Given the description of an element on the screen output the (x, y) to click on. 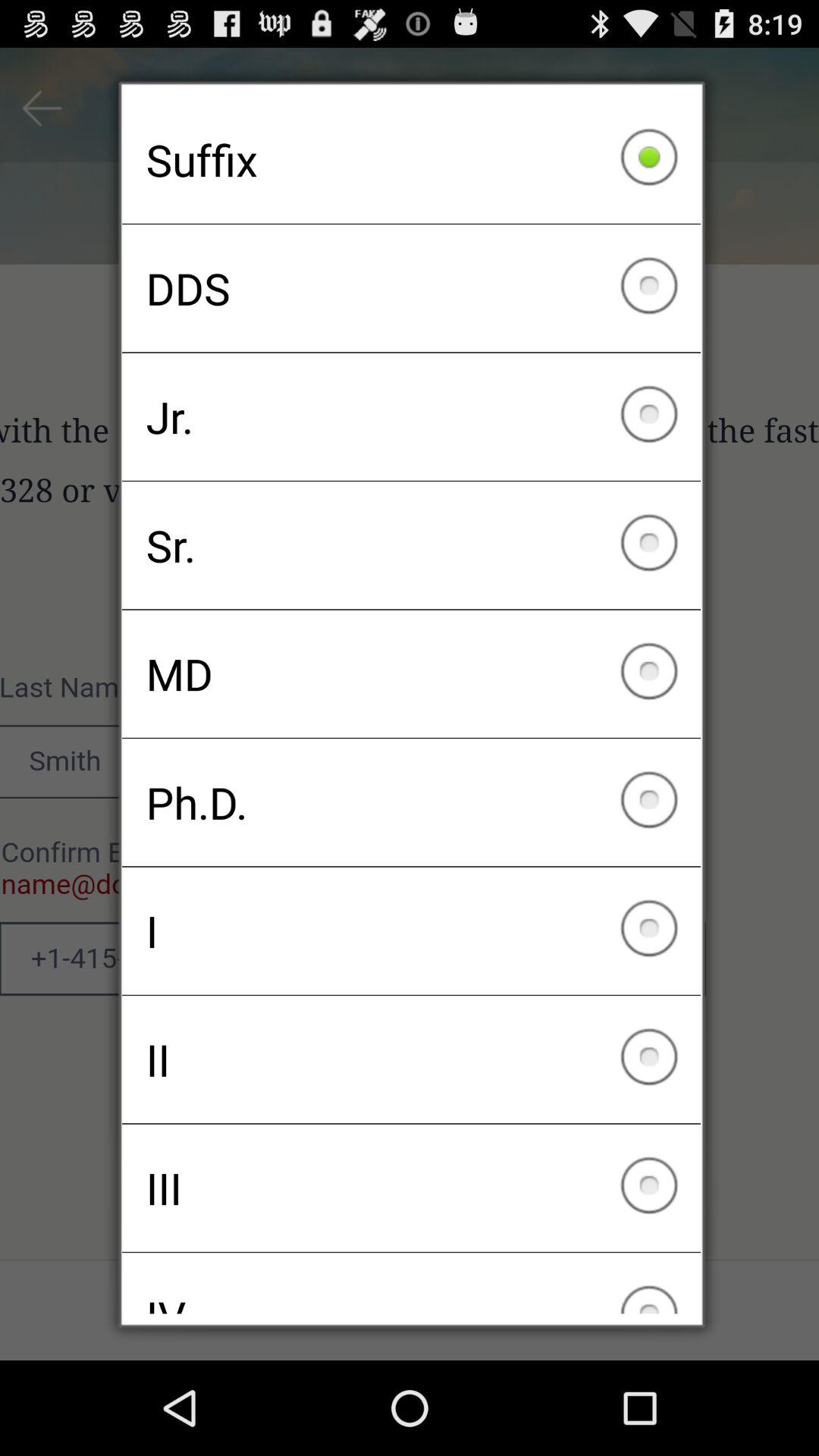
press sr. checkbox (411, 545)
